Given the description of an element on the screen output the (x, y) to click on. 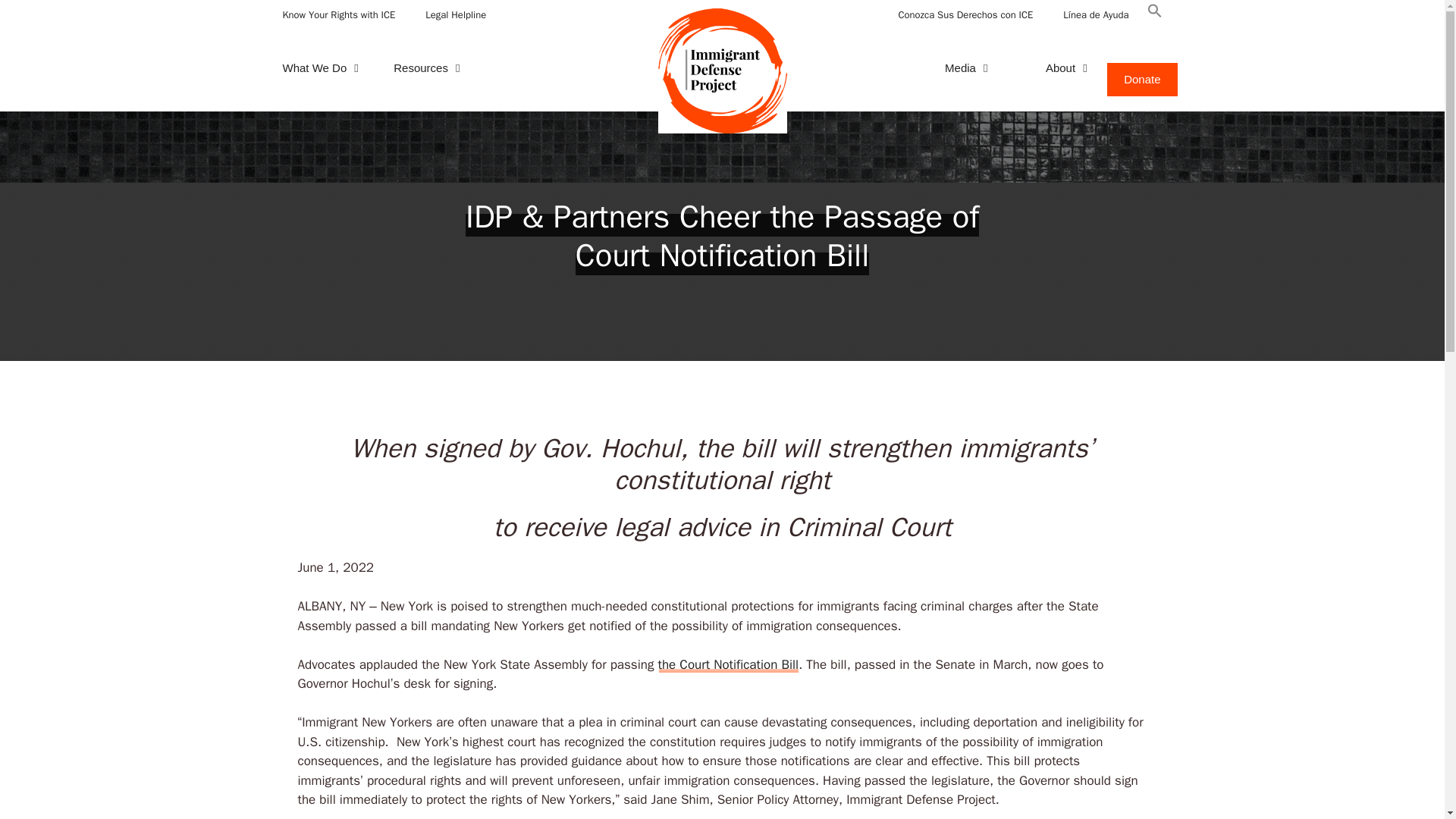
Know Your Rights with ICE (338, 15)
Legal Helpline (455, 15)
Donate (1141, 79)
Media (972, 67)
What We Do (322, 67)
Conozca Sus Derechos con ICE (965, 15)
Resources (429, 67)
About (1060, 67)
Menu Item Separator (705, 67)
